Given the description of an element on the screen output the (x, y) to click on. 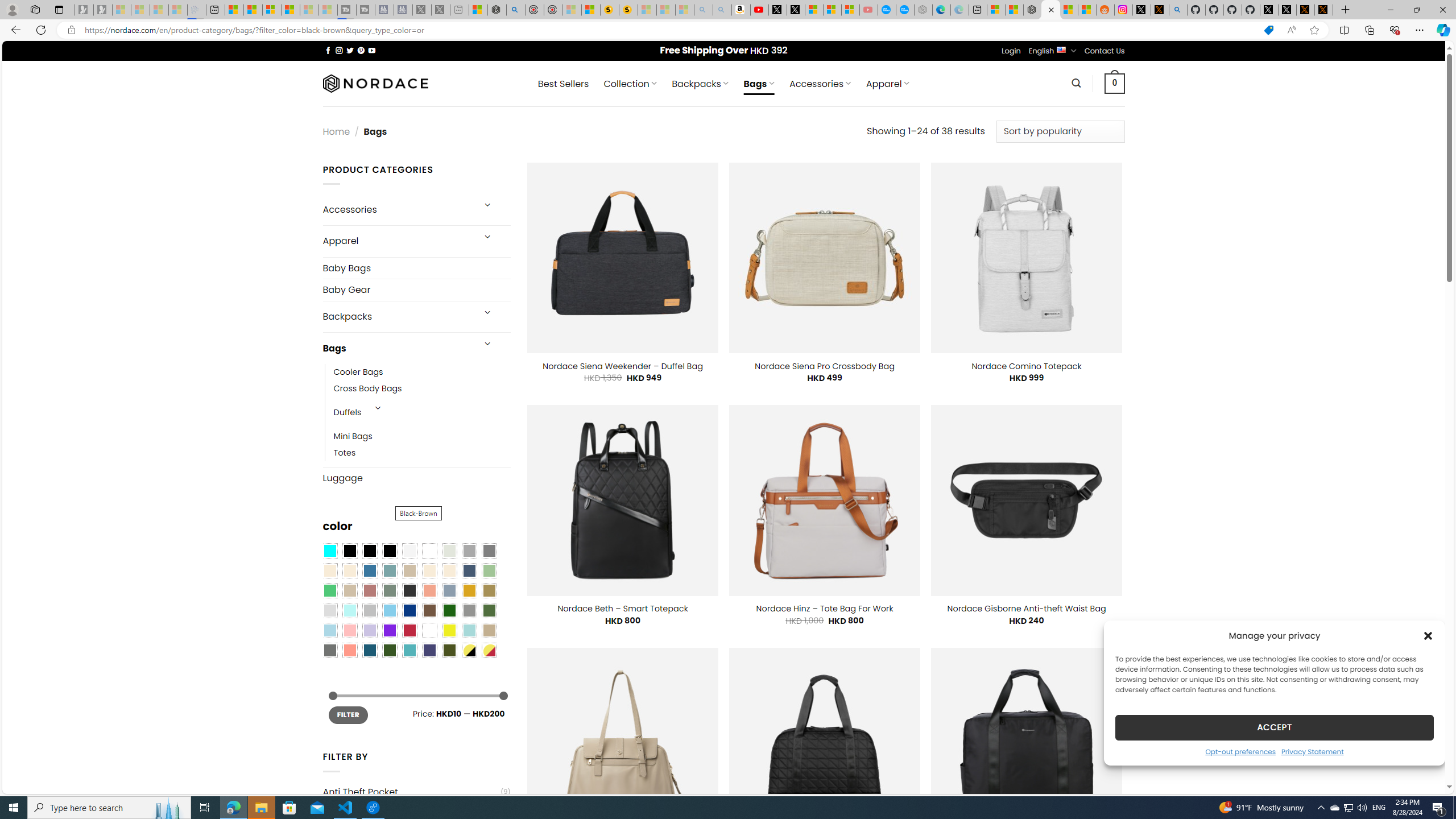
Rose (369, 590)
Class: cmplz-close (1428, 635)
Apparel (397, 241)
X - Sleeping (440, 9)
All Black (349, 550)
Follow on Twitter (349, 49)
Day 1: Arriving in Yemen (surreal to be here) - YouTube (759, 9)
Sky Blue (389, 610)
Cooler Bags (357, 371)
Follow on Facebook (327, 49)
Baby Gear (416, 289)
Caramel (429, 570)
